Given the description of an element on the screen output the (x, y) to click on. 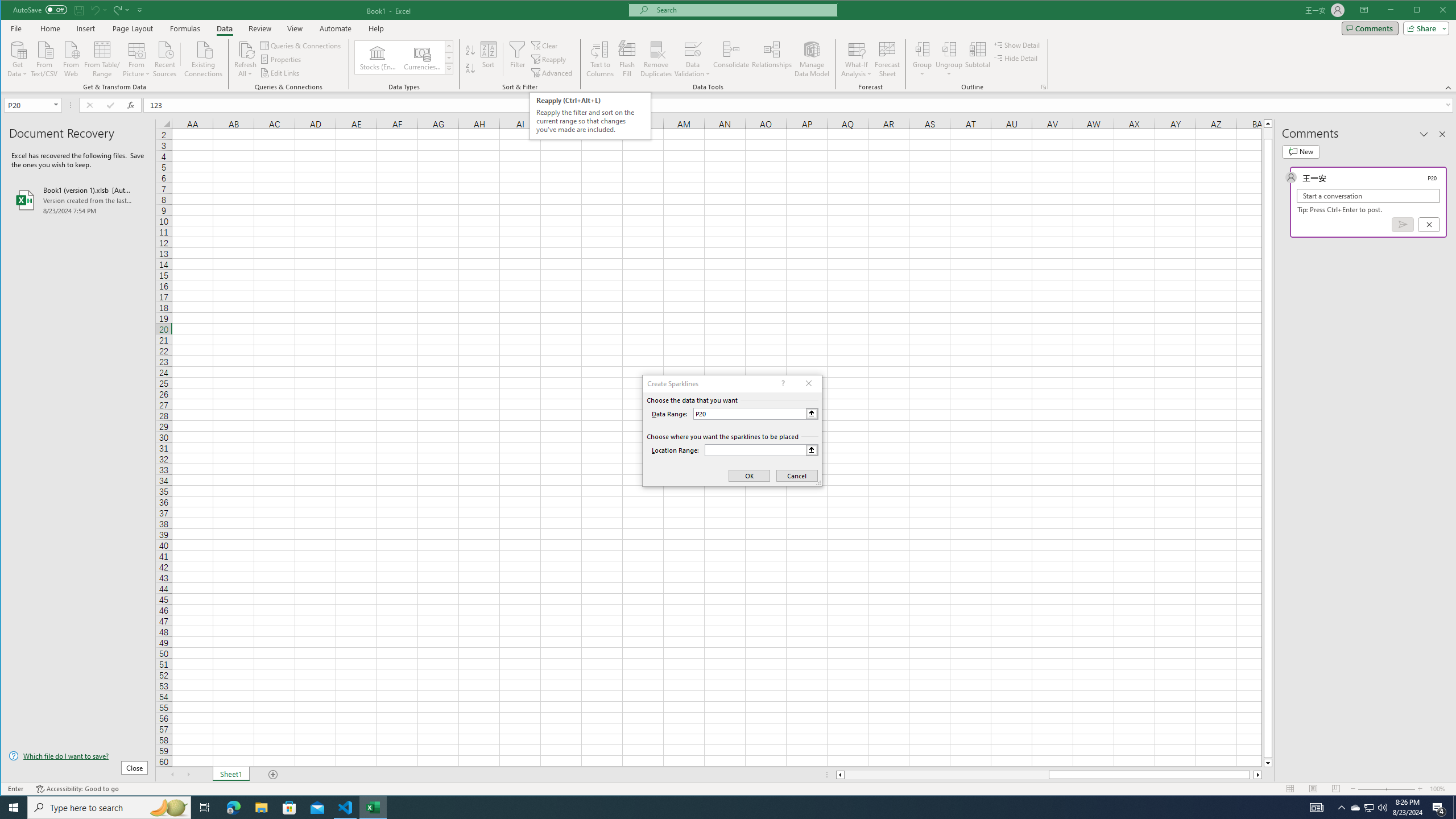
Consolidate... (731, 59)
Page up (1267, 132)
